Given the description of an element on the screen output the (x, y) to click on. 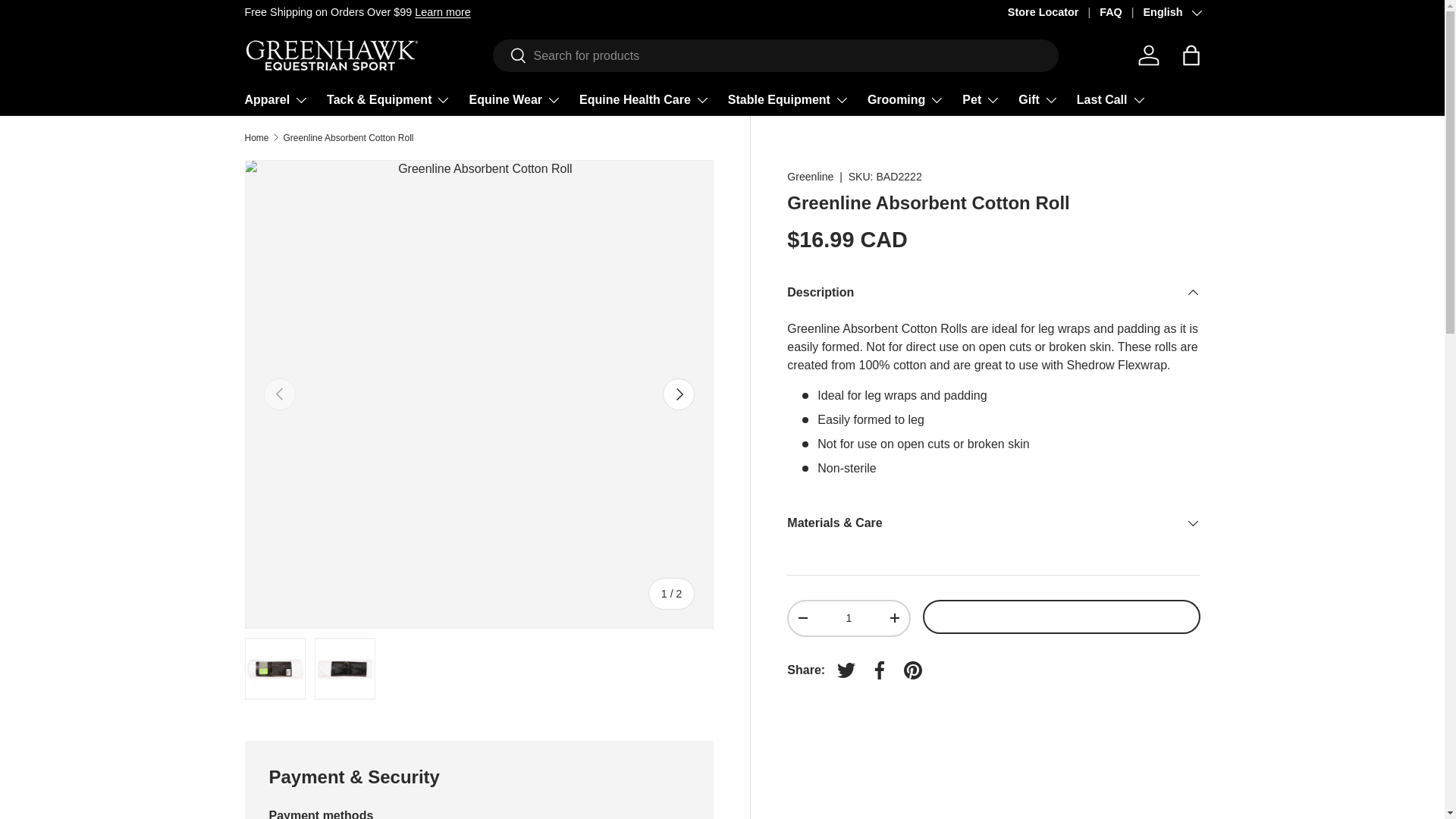
Bag (1190, 55)
FAQ (1120, 12)
Learn more (442, 11)
1 (847, 617)
Log in (1147, 55)
Search (510, 56)
English (1170, 12)
Apparel (276, 100)
free-shipping (442, 11)
Store Locator (1053, 12)
